Given the description of an element on the screen output the (x, y) to click on. 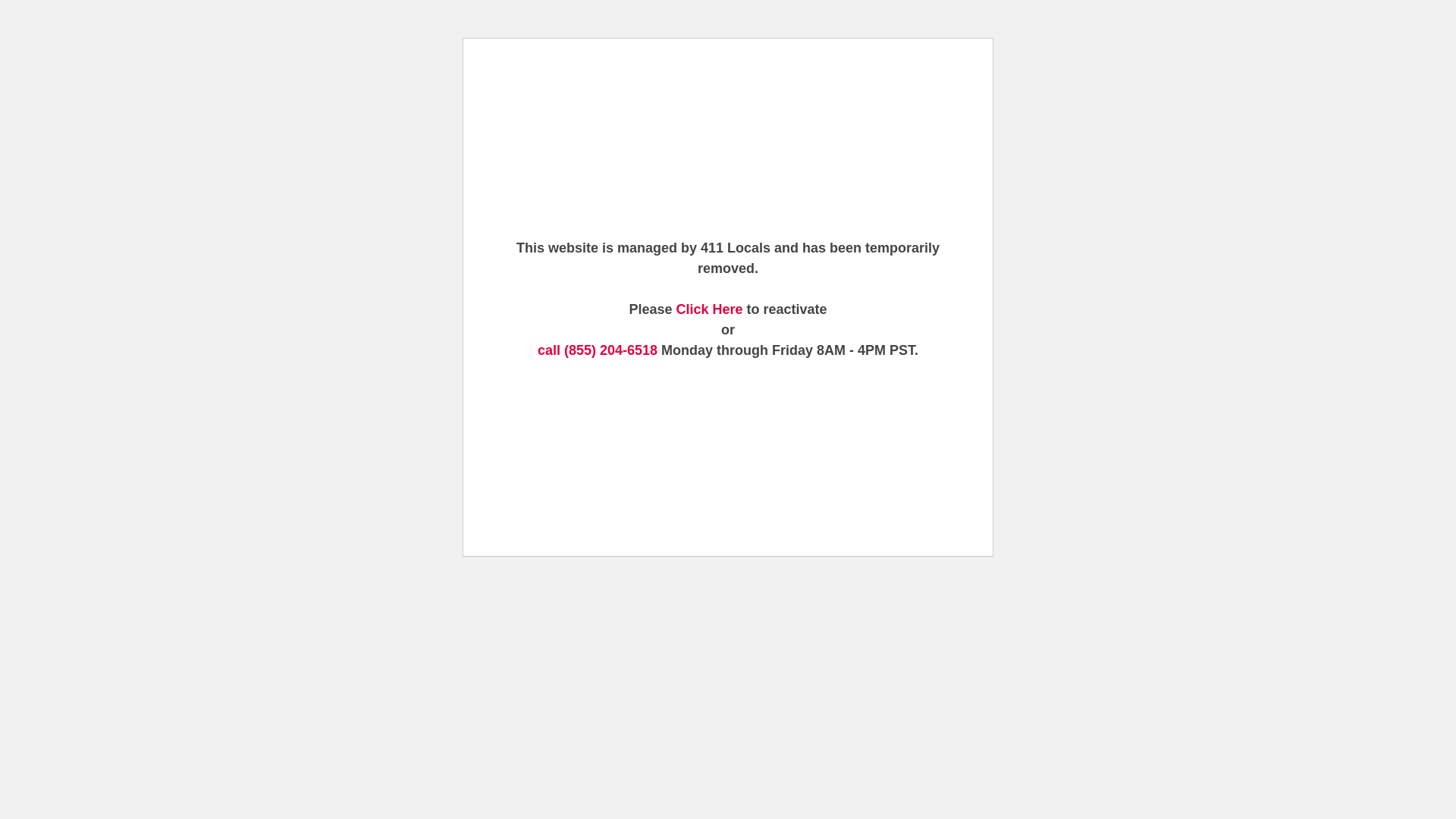
Click Here Element type: text (708, 308)
call (855) 204-6518 Element type: text (597, 349)
